Given the description of an element on the screen output the (x, y) to click on. 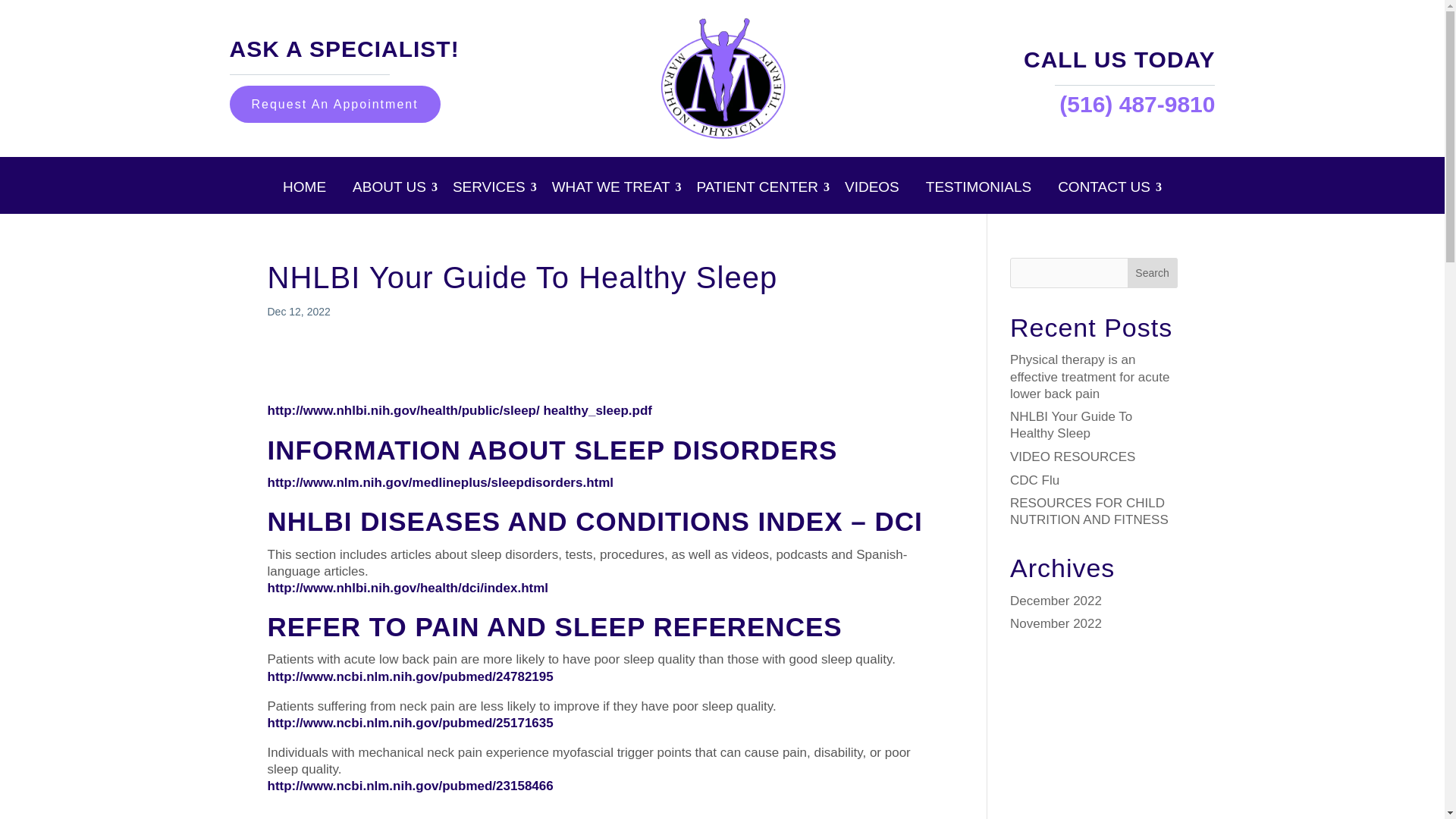
HOME (309, 190)
Request An Appointment (333, 103)
PATIENT CENTER (761, 190)
CONTACT US (1109, 190)
TESTIMONIALS (984, 190)
VIDEOS (877, 190)
ABOUT US (395, 190)
WHAT WE TREAT (616, 190)
cropped-image5.jpg (722, 78)
SERVICES (494, 190)
